Given the description of an element on the screen output the (x, y) to click on. 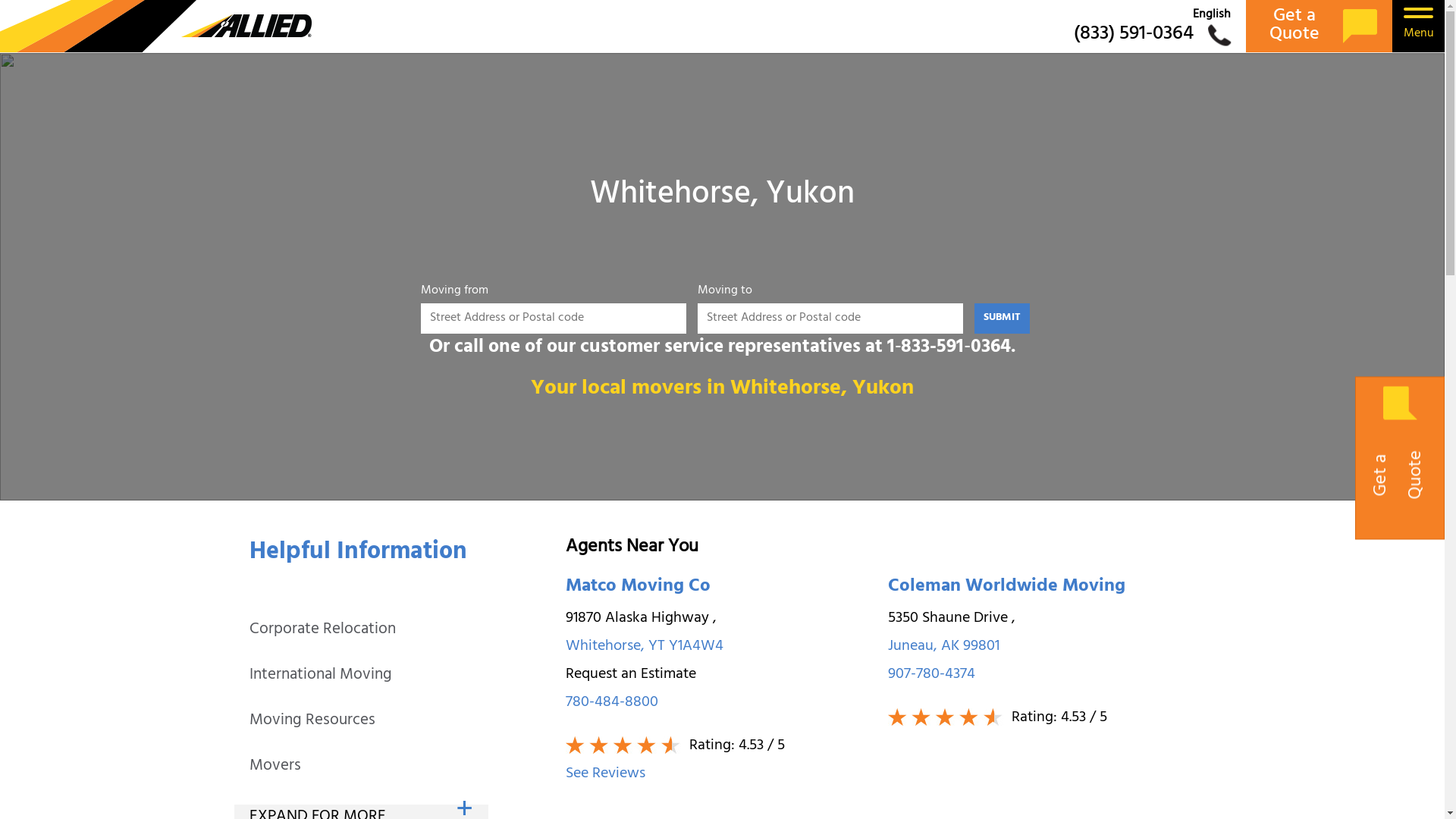
Corporate Relocation Element type: text (322, 629)
English Element type: text (1211, 14)
International Moving Element type: text (320, 675)
Juneau, AK 99801 Element type: text (1041, 647)
SUBMIT Element type: text (1001, 318)
Menu Element type: text (1418, 26)
Movers Element type: text (275, 766)
780-484-8800 Element type: text (718, 703)
Moving Resources Element type: text (312, 720)
Coleman Worldwide Moving Element type: text (1041, 587)
Allied Van Lines Element type: text (155, 26)
Matco Moving Co Element type: text (718, 587)
Whitehorse, YT Y1A4W4 Element type: text (718, 647)
907-780-4374 Element type: text (1041, 675)
Get a Quote Element type: text (1318, 26)
See Reviews Element type: text (718, 774)
